Given the description of an element on the screen output the (x, y) to click on. 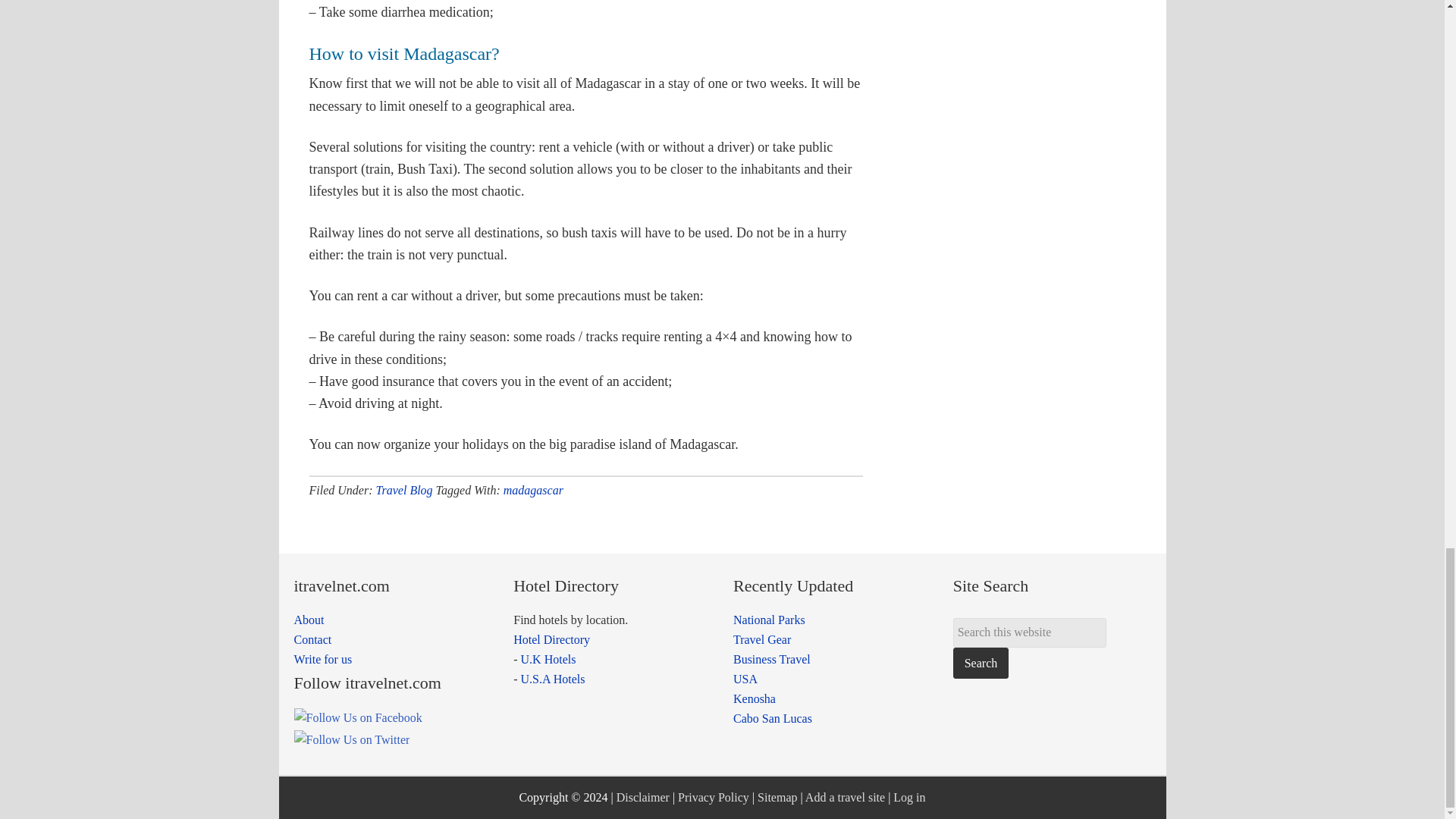
Search (981, 662)
Travel Blog (403, 490)
madagascar (533, 490)
About (309, 619)
Search (981, 662)
Write for us (323, 658)
Hotel Directory (551, 639)
Follow Us on Twitter (352, 740)
Follow Us on Facebook (358, 718)
Contact (312, 639)
